Given the description of an element on the screen output the (x, y) to click on. 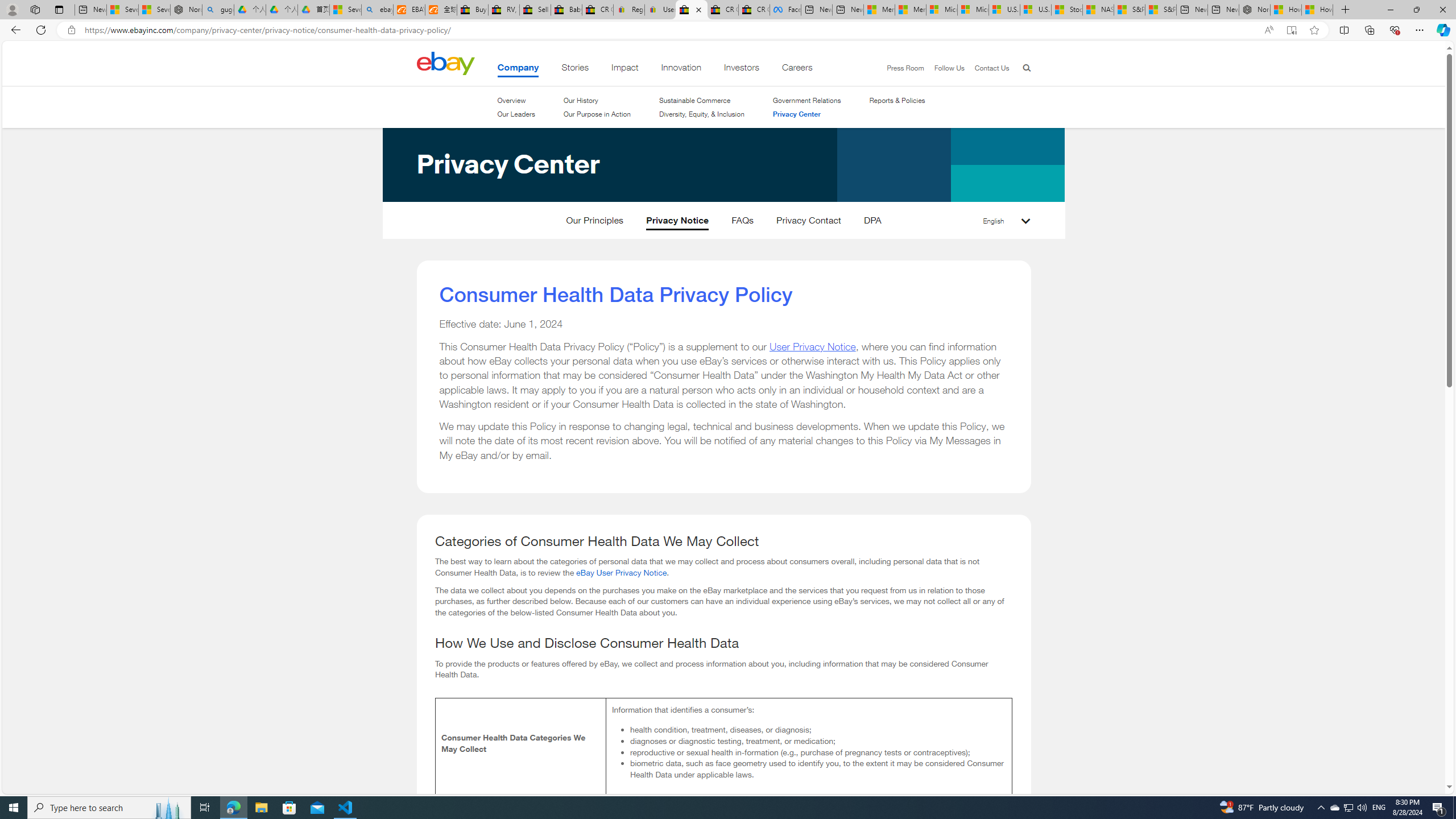
Sustainable Commerce (701, 100)
Investors (740, 69)
S&P 500, Nasdaq end lower, weighed by Nvidia dip | Watch (1160, 9)
Reports & Policies (897, 99)
Our Purpose in Action (596, 113)
Our History (580, 99)
DPA (871, 222)
